Given the description of an element on the screen output the (x, y) to click on. 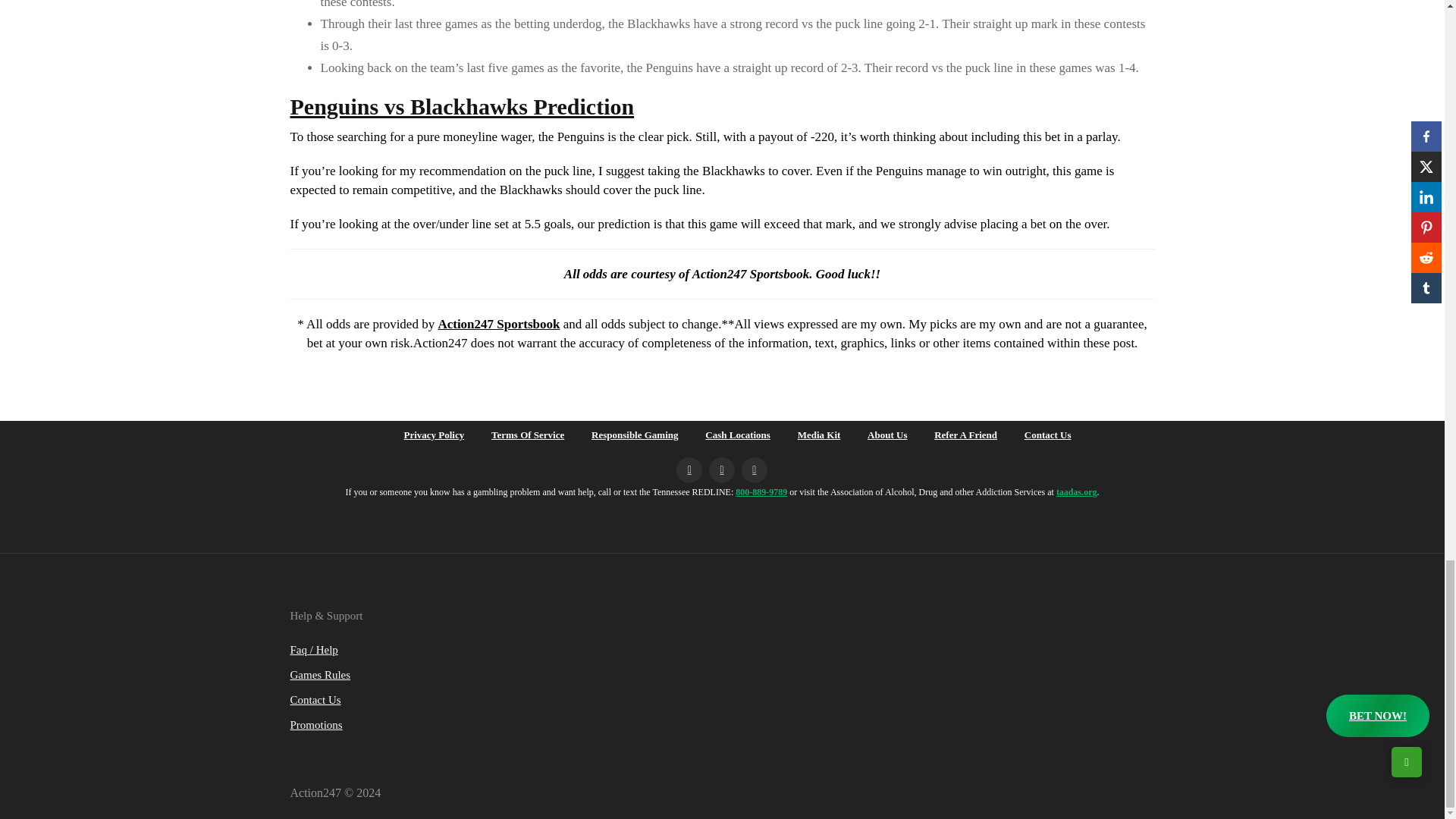
Penguins vs Blackhawks Prediction (461, 106)
Action247 Sportsbook (498, 323)
